Given the description of an element on the screen output the (x, y) to click on. 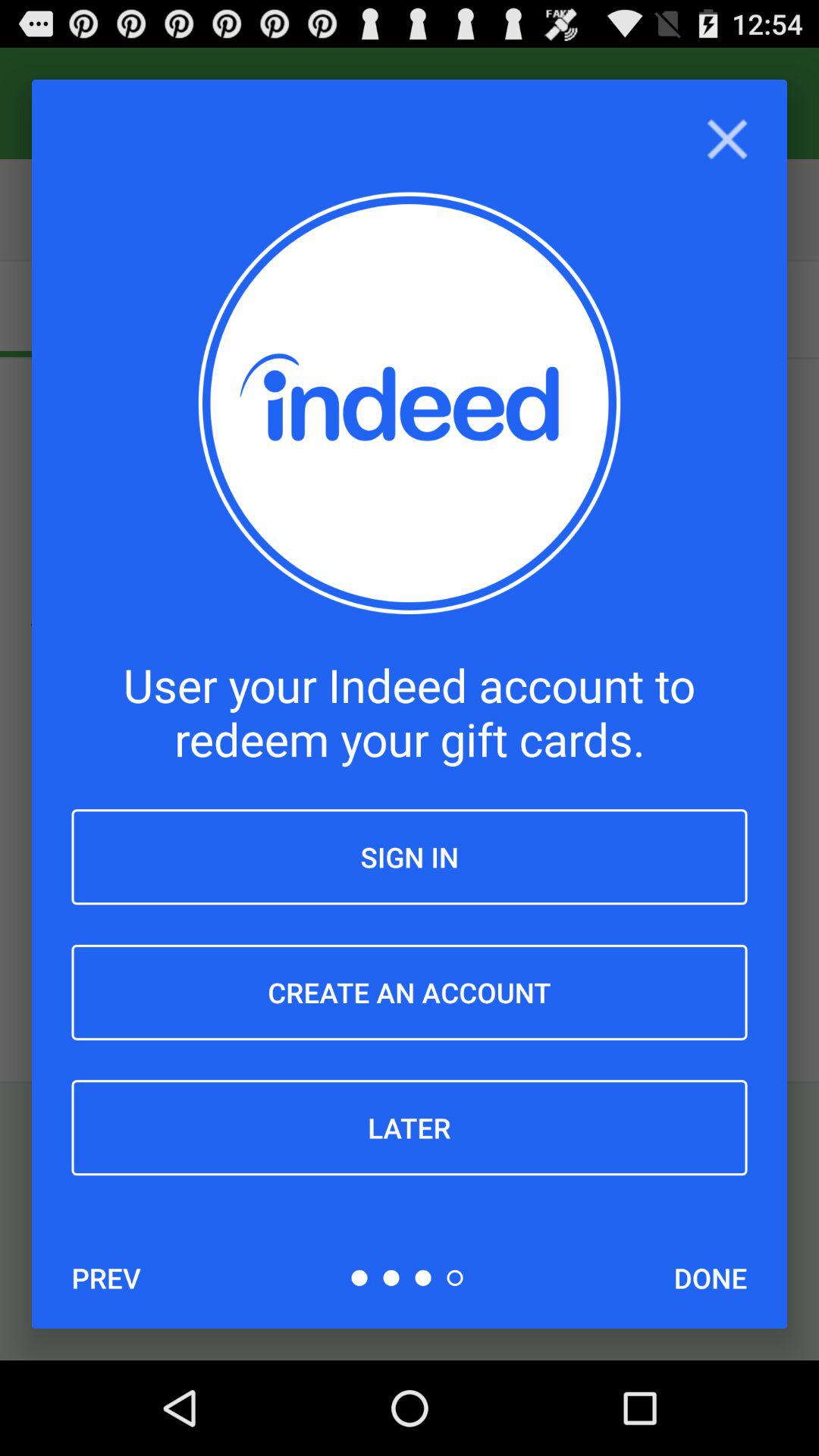
select item below the later (105, 1277)
